Given the description of an element on the screen output the (x, y) to click on. 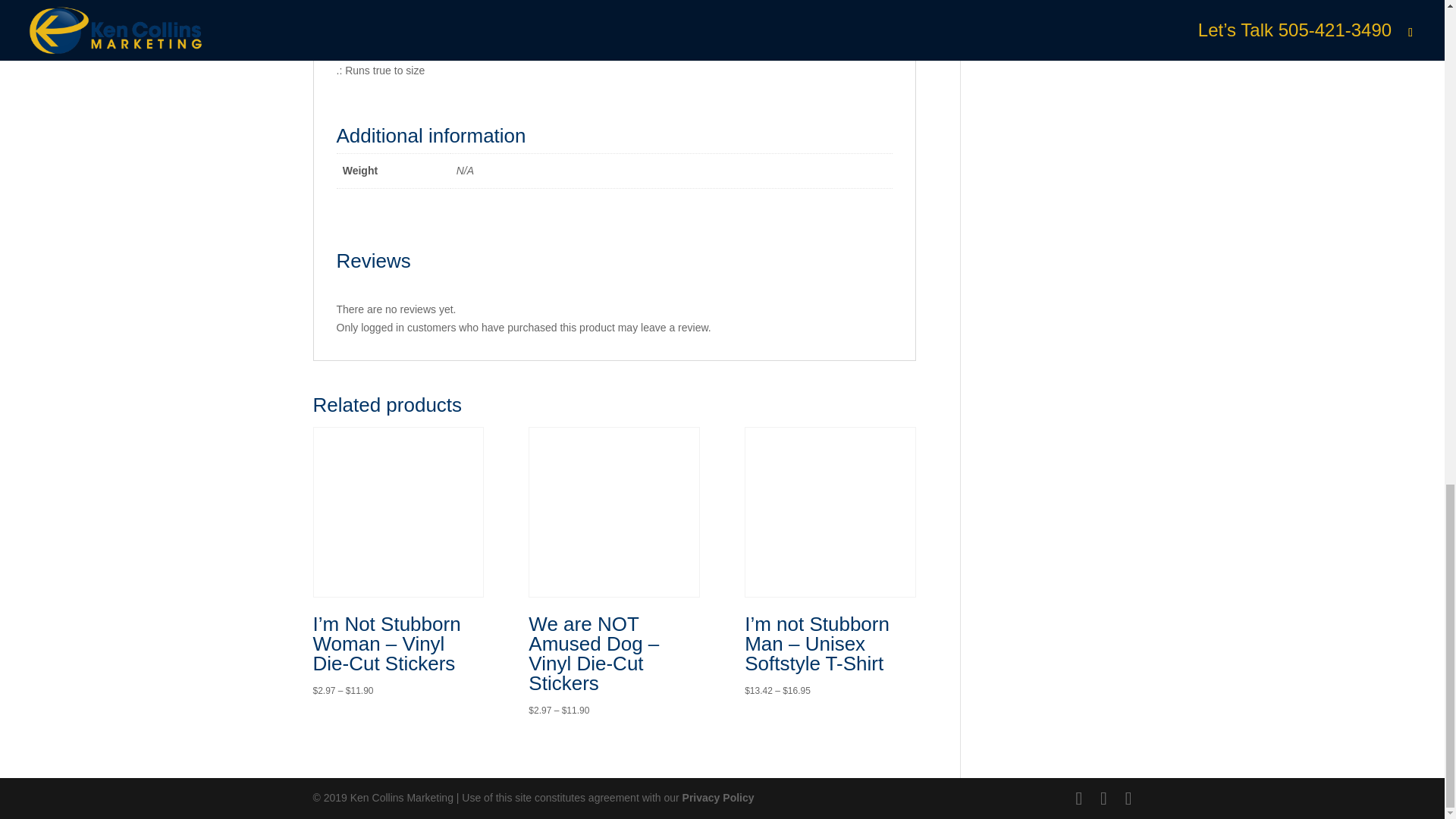
Privacy Policy (718, 797)
